Given the description of an element on the screen output the (x, y) to click on. 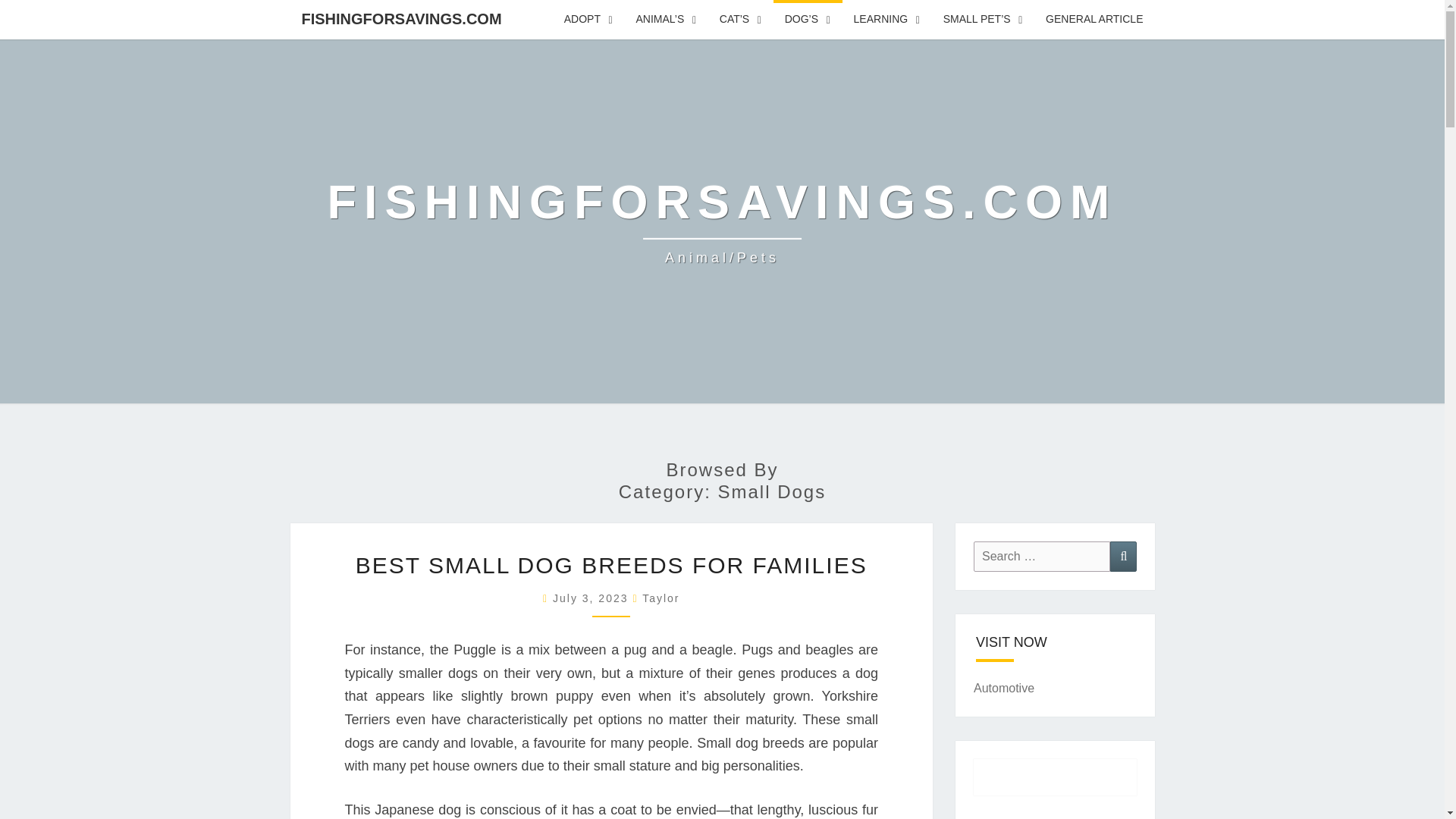
4:02 am (592, 598)
View all posts by Taylor (660, 598)
ADOPT (588, 19)
LEARNING (887, 19)
GENERAL ARTICLE (1093, 19)
FISHINGFORSAVINGS.COM (400, 18)
Search for: (1041, 555)
FishingForSavings.com (722, 221)
BEST SMALL DOG BREEDS FOR FAMILIES (611, 565)
